Given the description of an element on the screen output the (x, y) to click on. 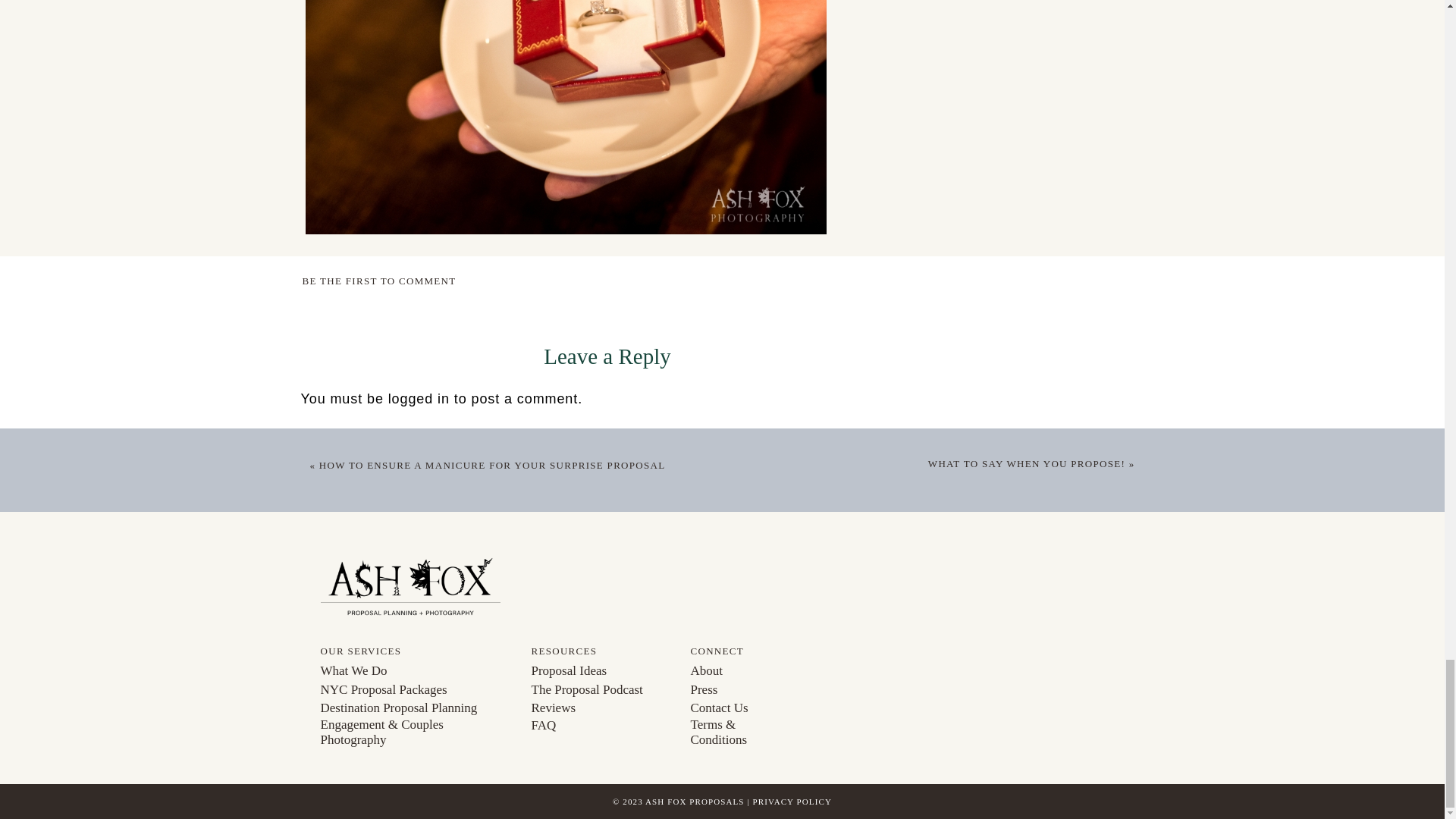
HOW TO ENSURE A MANICURE FOR YOUR SURPRISE PROPOSAL (491, 464)
WHAT TO SAY WHEN YOU PROPOSE! (1026, 463)
Reviews (600, 709)
NYC Proposal Packages (414, 691)
The Proposal Podcast (600, 690)
What We Do (414, 670)
BE THE FIRST TO COMMENT (378, 280)
Destination Proposal Planning (414, 709)
Proposal Ideas (600, 670)
FAQ (600, 725)
